Given the description of an element on the screen output the (x, y) to click on. 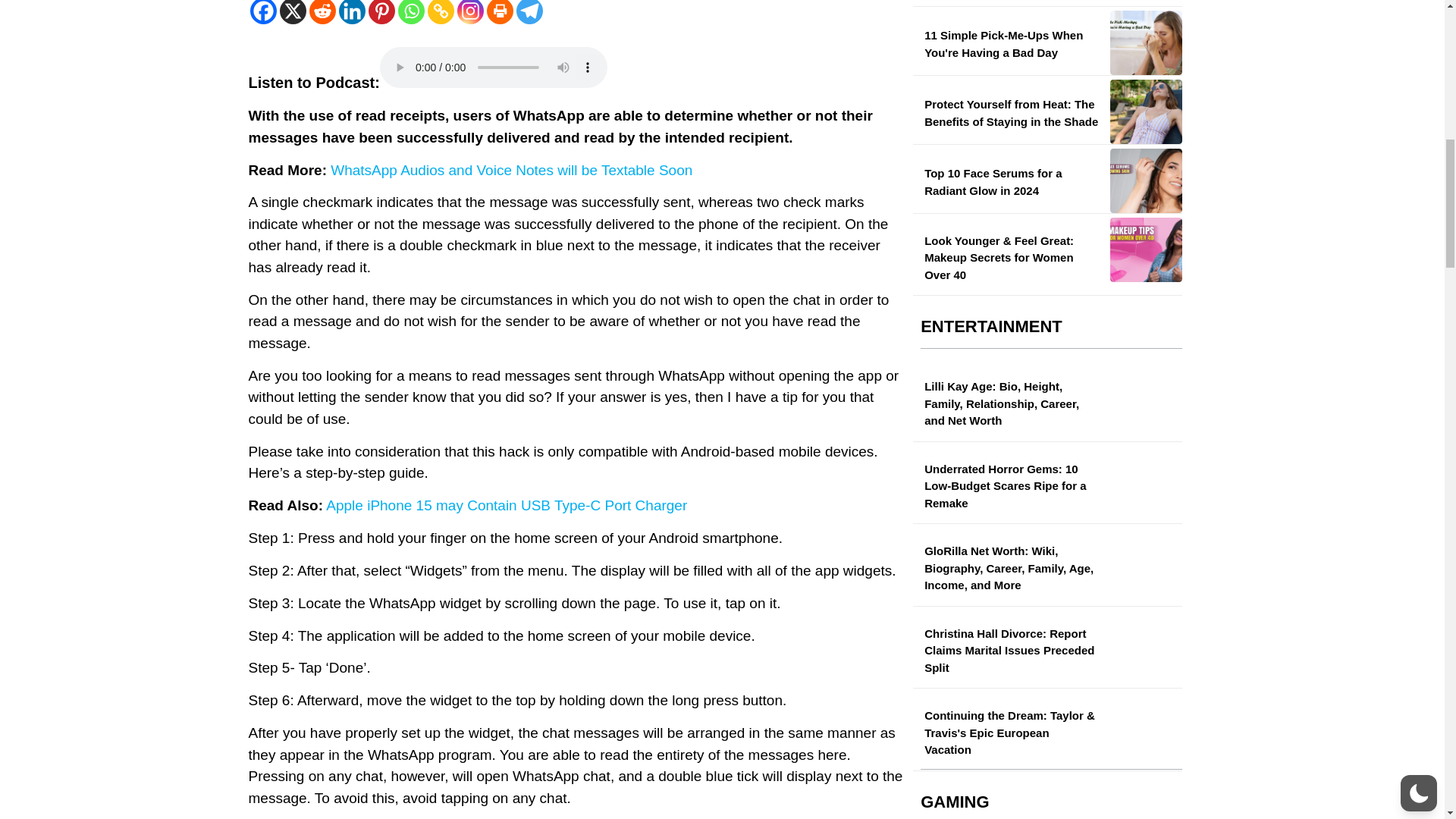
Pinterest (381, 12)
Instagram (470, 12)
Facebook (263, 12)
Copy Link (441, 12)
Whatsapp (410, 12)
X (292, 12)
Linkedin (351, 12)
Telegram (528, 12)
Print (499, 12)
Reddit (322, 12)
